Given the description of an element on the screen output the (x, y) to click on. 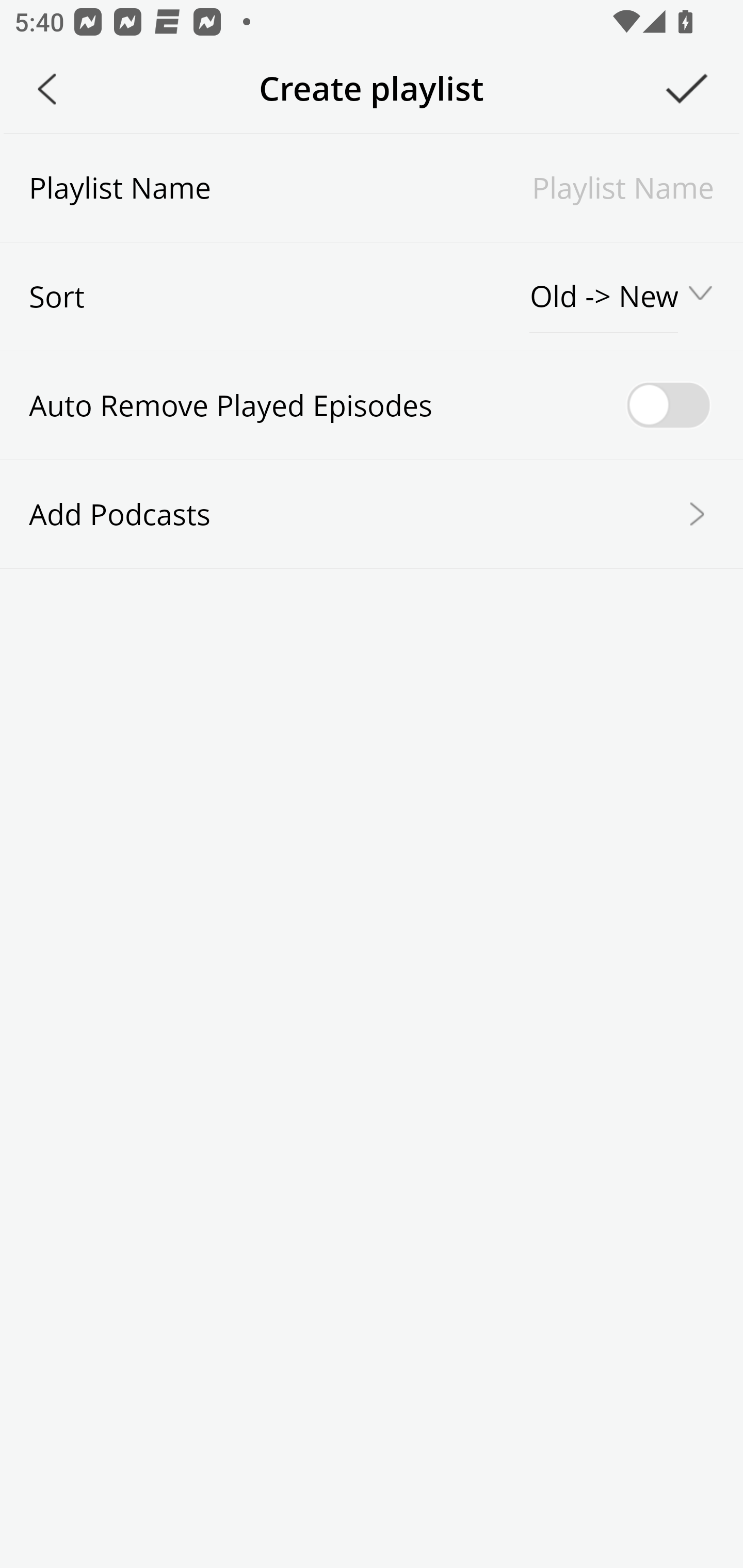
Back (46, 88)
Playlist Name (462, 187)
Old -> New (605, 297)
Add Podcasts (371, 513)
